Given the description of an element on the screen output the (x, y) to click on. 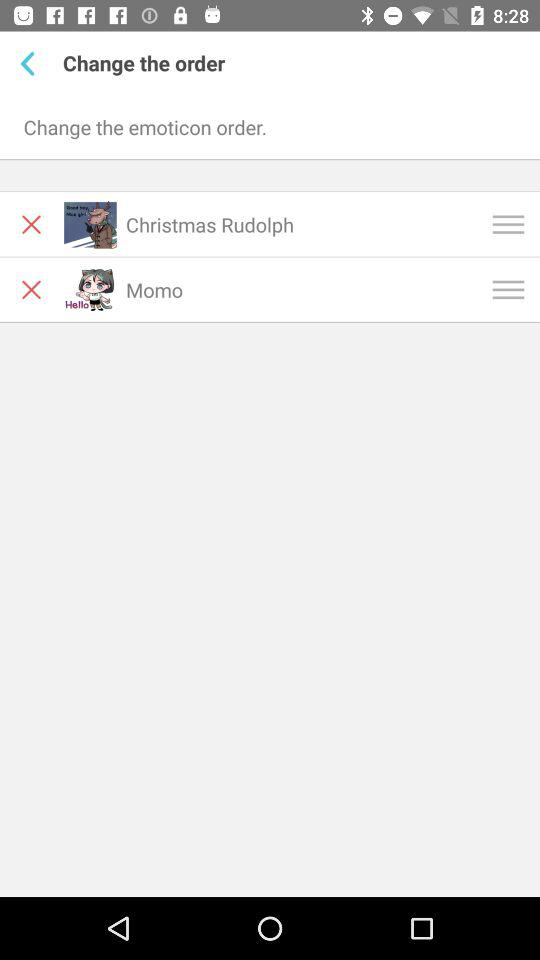
delete (31, 289)
